Given the description of an element on the screen output the (x, y) to click on. 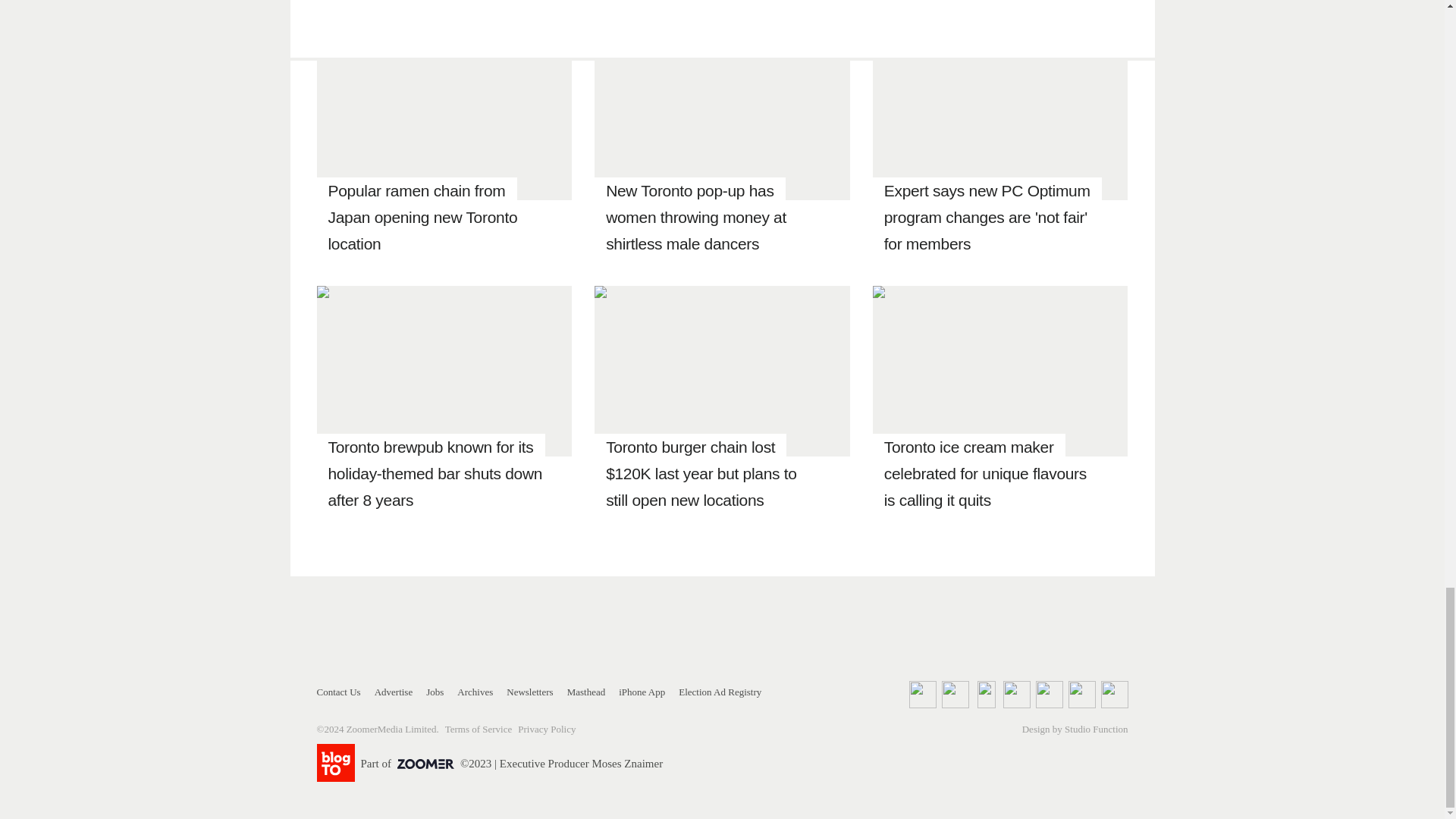
Contact Us (339, 691)
Jobs (435, 691)
Advertise (393, 691)
Election Ad Registry (719, 691)
iPhone App (641, 691)
Masthead (586, 691)
Archives (475, 691)
Newsletters (529, 691)
